Given the description of an element on the screen output the (x, y) to click on. 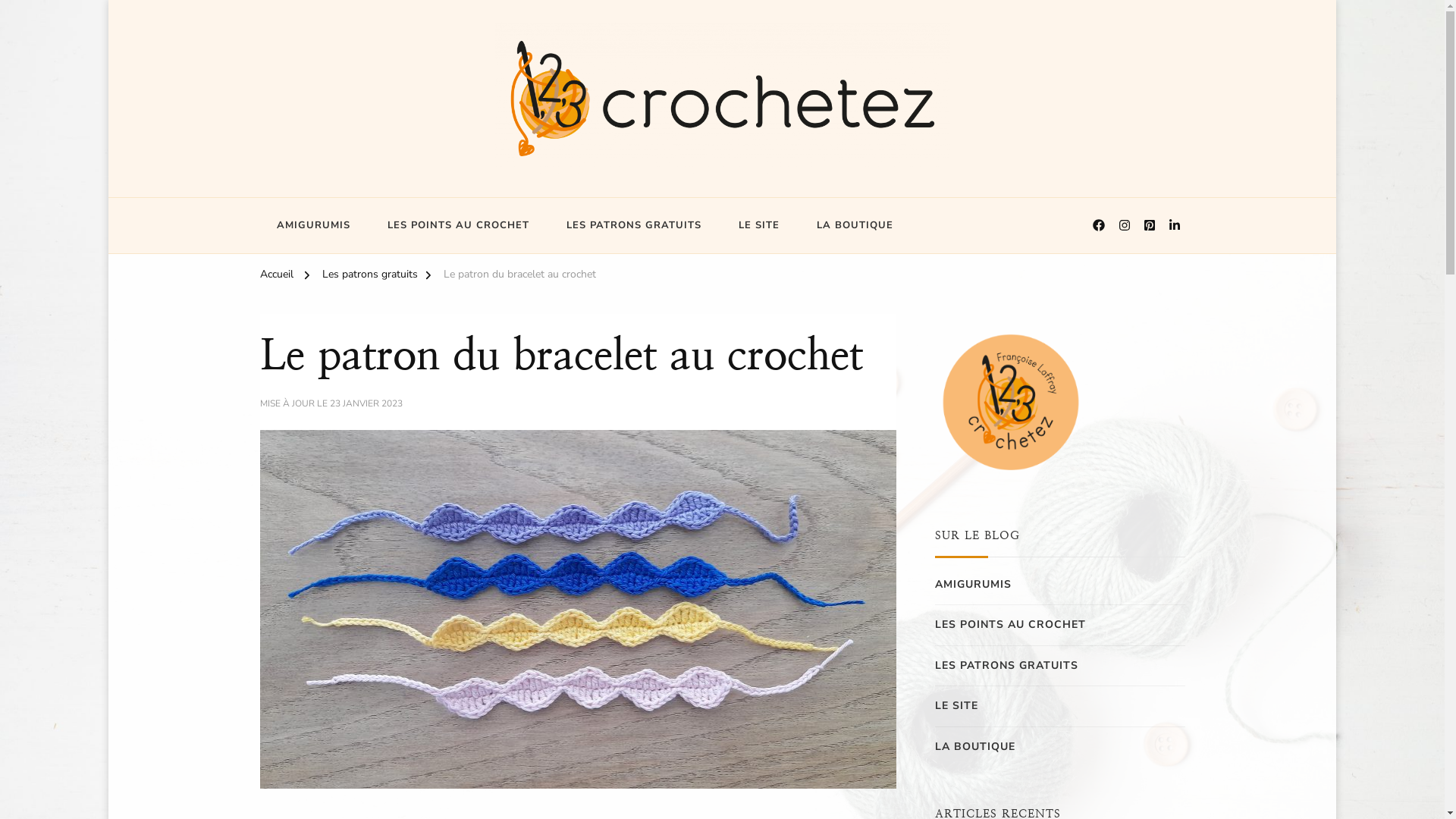
AMIGURUMIS Element type: text (312, 225)
LES PATRONS GRATUITS Element type: text (633, 225)
Accueil Element type: text (275, 276)
LA BOUTIQUE Element type: text (854, 225)
LES POINTS AU CROCHET Element type: text (1009, 624)
LES PATRONS GRATUITS Element type: text (1005, 665)
LES POINTS AU CROCHET Element type: text (457, 225)
LE SITE Element type: text (955, 705)
123Crochetez Element type: text (327, 188)
Le patron du bracelet au crochet Element type: text (518, 276)
Les patrons gratuits Element type: text (369, 276)
AMIGURUMIS Element type: text (972, 584)
LE SITE Element type: text (758, 225)
LA BOUTIQUE Element type: text (974, 746)
23 JANVIER 2023 Element type: text (365, 404)
